Given the description of an element on the screen output the (x, y) to click on. 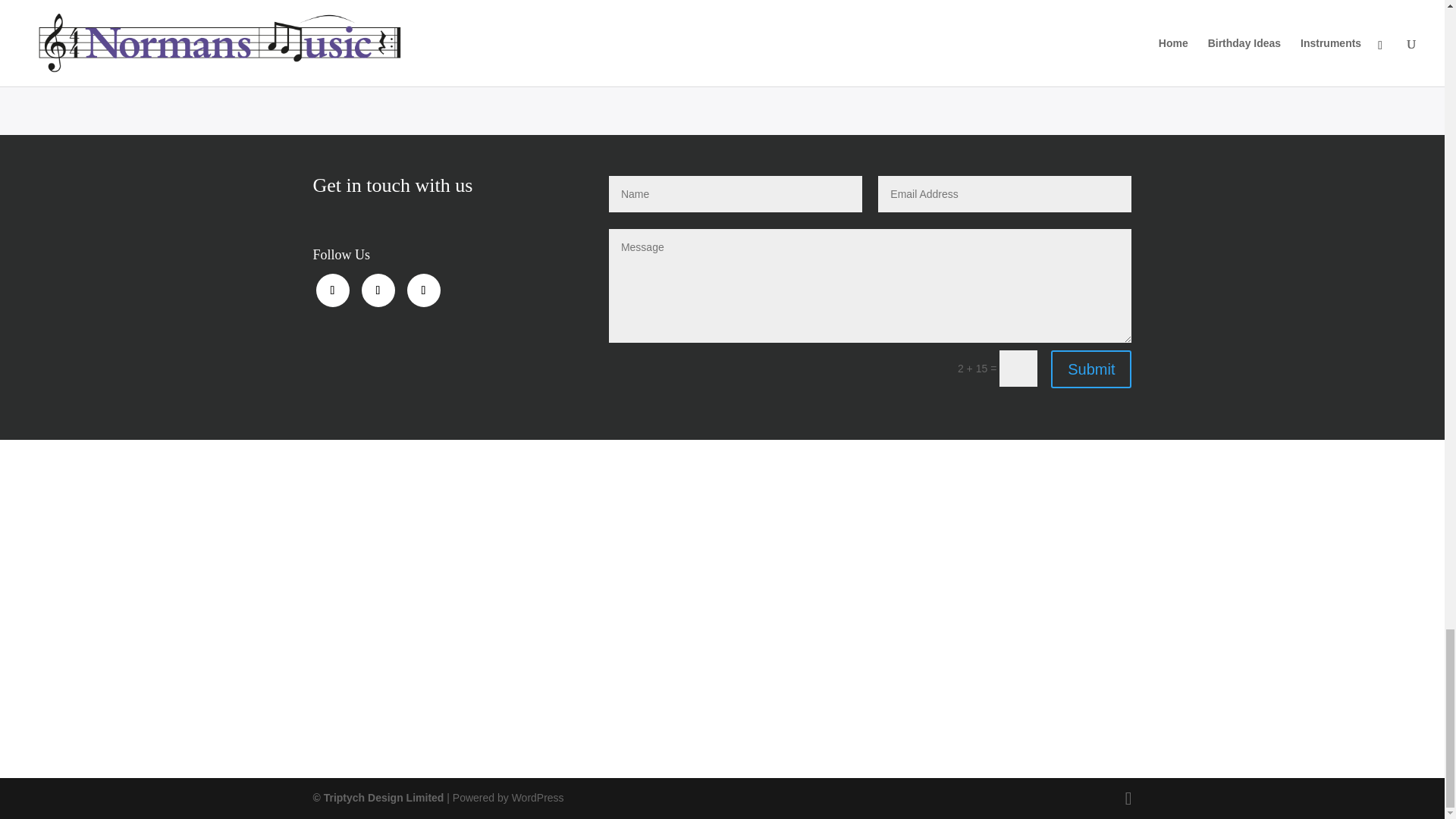
Follow on Facebook (332, 290)
Follow on X (377, 290)
Submit (1091, 369)
Follow on Instagram (422, 290)
